Given the description of an element on the screen output the (x, y) to click on. 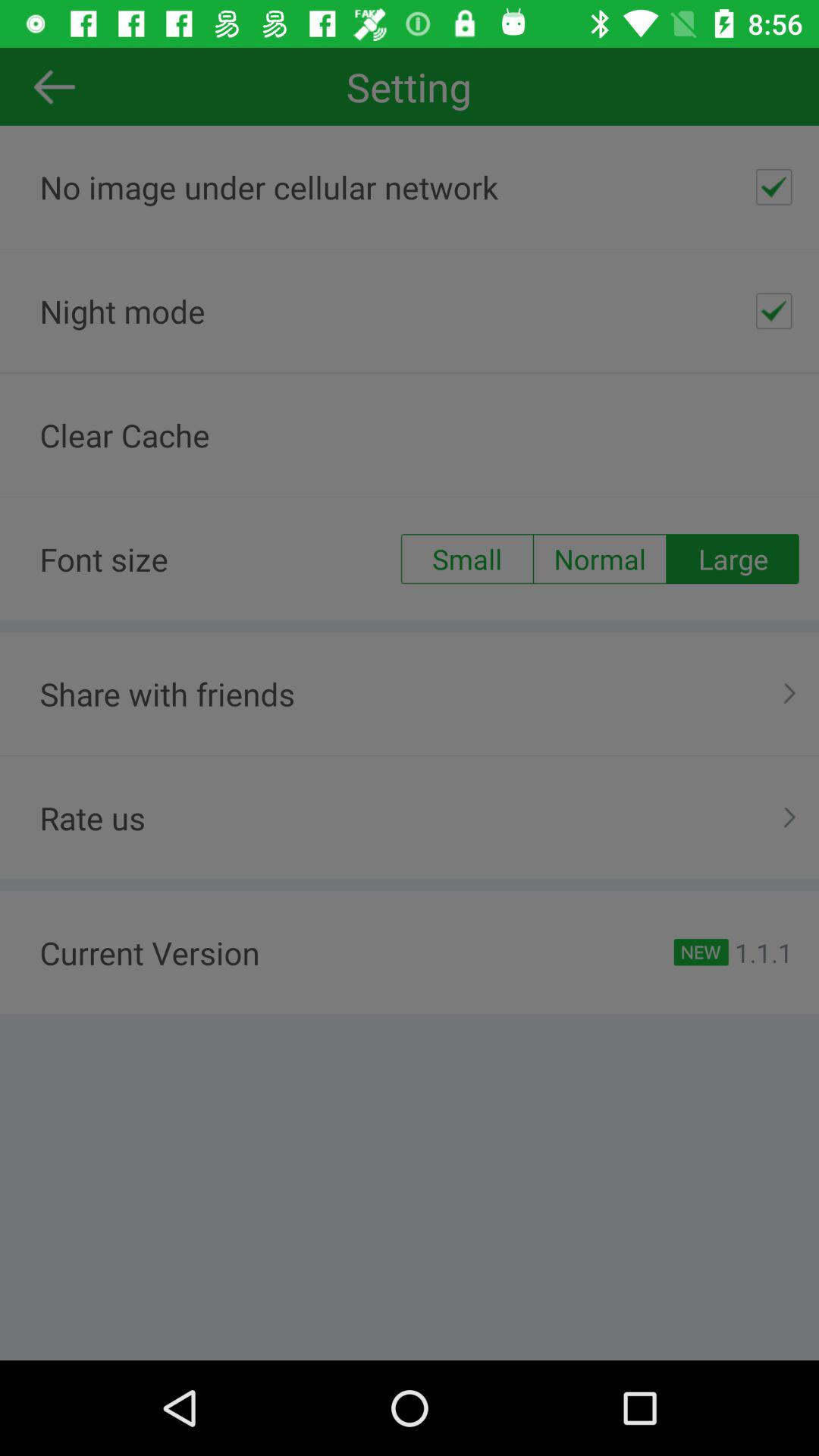
choose the icon to the right of night mode (774, 311)
